Given the description of an element on the screen output the (x, y) to click on. 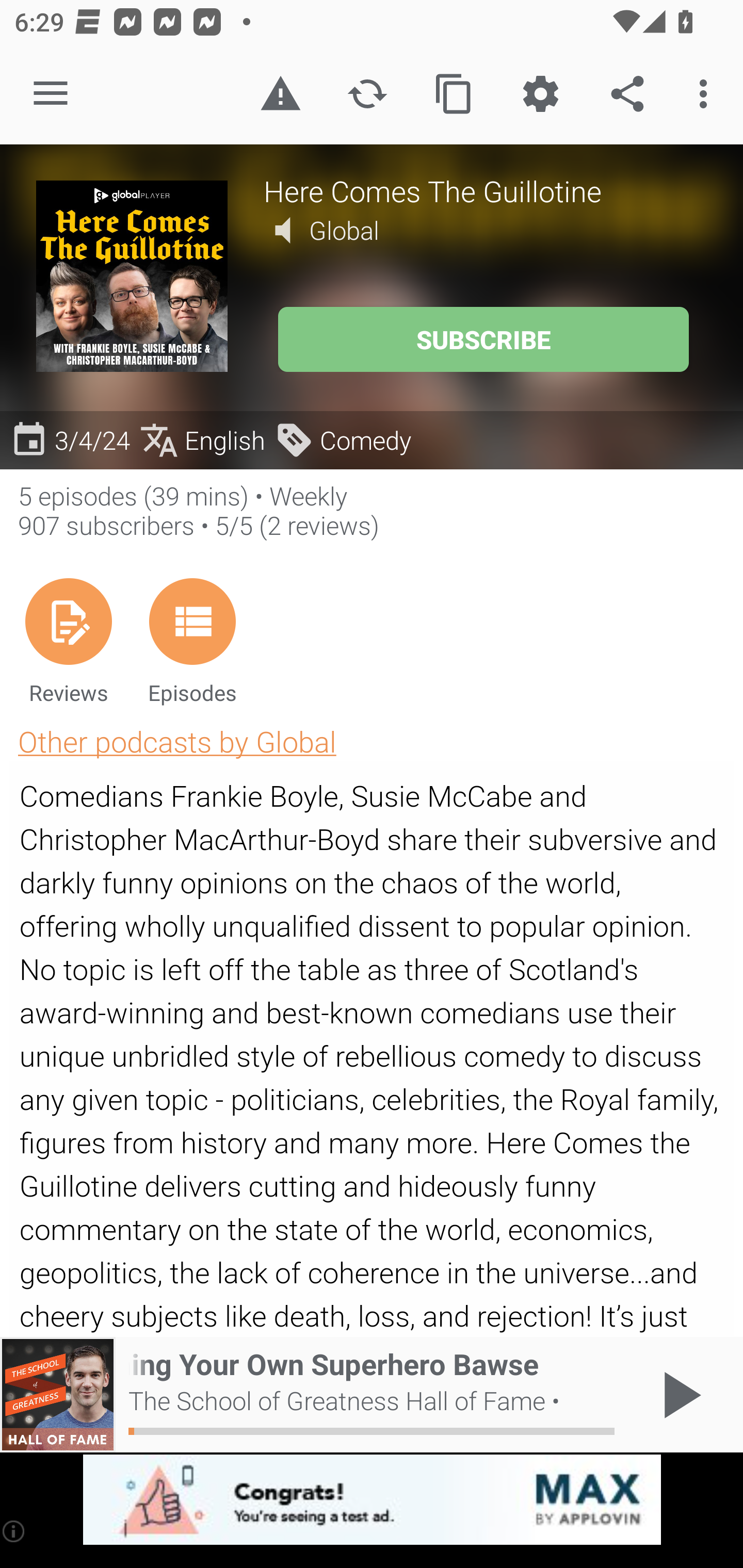
Open navigation sidebar (50, 93)
Report inappropriate content (280, 93)
Refresh podcast description (366, 93)
Copy feed url to clipboard (453, 93)
Custom Settings (540, 93)
Share the podcast (626, 93)
More options (706, 93)
Here Comes The Guillotine (484, 190)
Global (343, 230)
SUBSCRIBE (482, 339)
Comedy (342, 439)
Reviews (68, 640)
Episodes (192, 640)
Other podcasts by Global (176, 740)
Play / Pause (677, 1394)
app-monetization (371, 1500)
(i) (14, 1531)
